Given the description of an element on the screen output the (x, y) to click on. 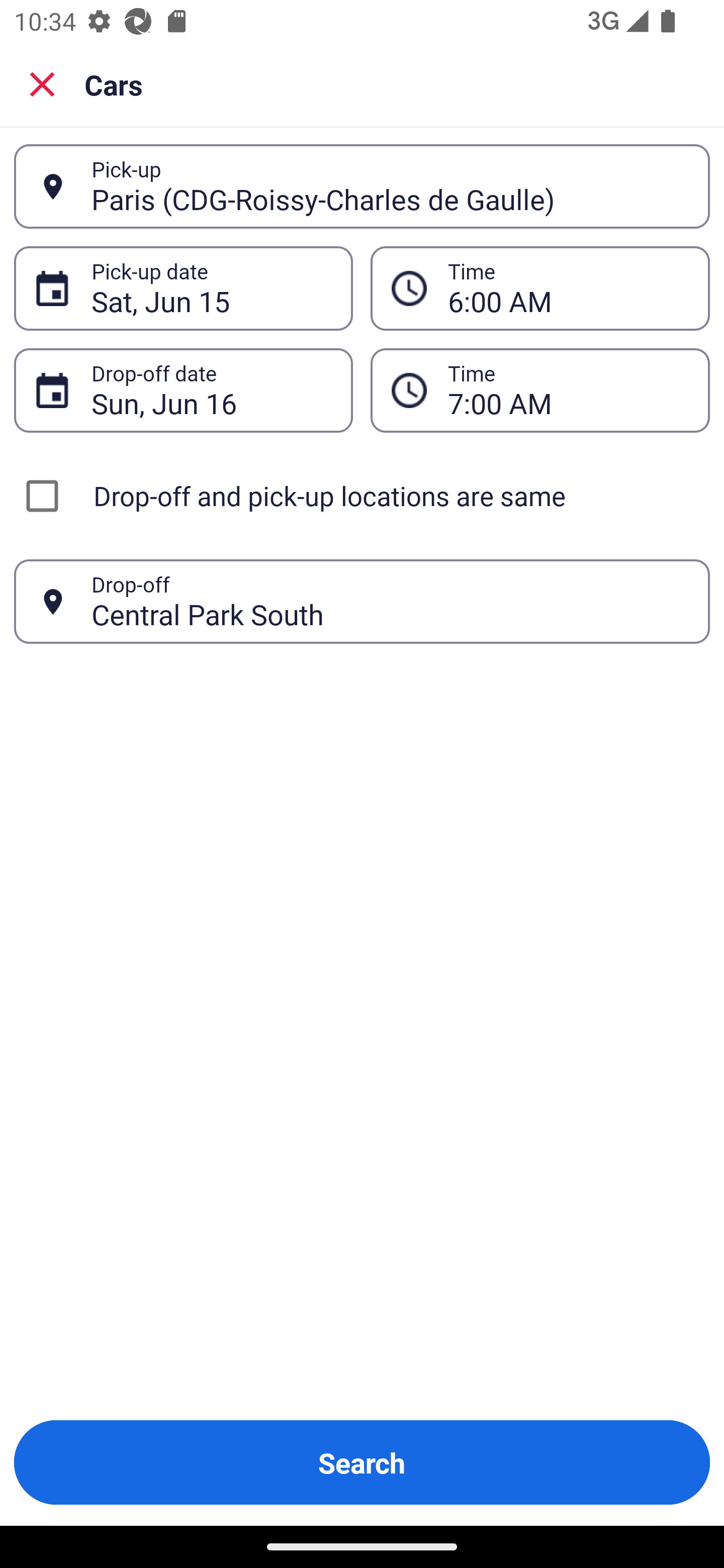
Close search screen (41, 83)
Paris (CDG-Roissy-Charles de Gaulle) Pick-up (361, 186)
Paris (CDG-Roissy-Charles de Gaulle) (389, 186)
Sat, Jun 15 Pick-up date (183, 288)
6:00 AM (540, 288)
Sat, Jun 15 (211, 288)
6:00 AM (568, 288)
Sun, Jun 16 Drop-off date (183, 390)
7:00 AM (540, 390)
Sun, Jun 16 (211, 390)
7:00 AM (568, 390)
Drop-off and pick-up locations are same (361, 495)
Central Park South Drop-off (361, 601)
Central Park South (389, 601)
Search Button Search (361, 1462)
